Given the description of an element on the screen output the (x, y) to click on. 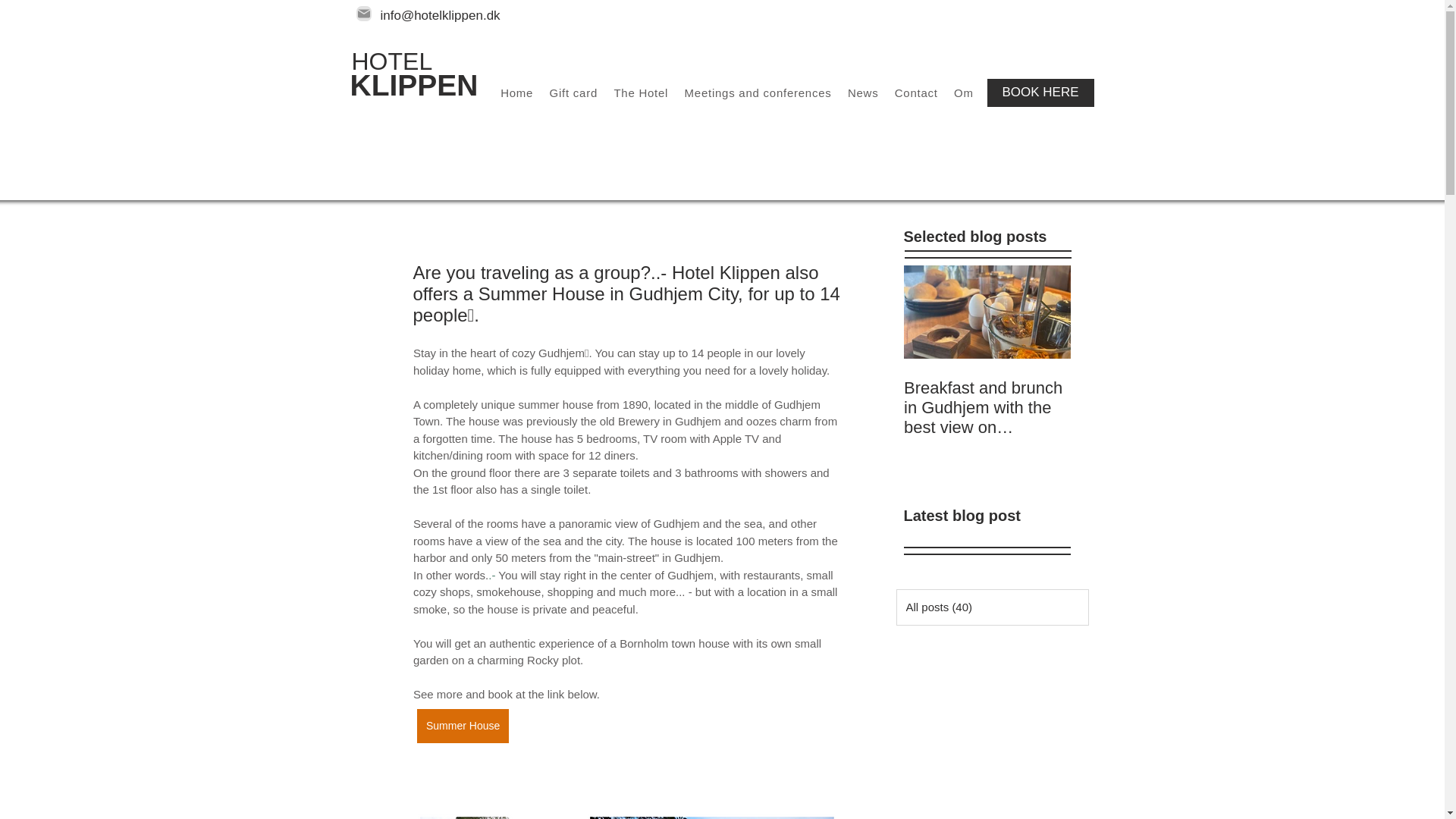
BOOK HERE (1040, 92)
Contact (915, 92)
Summer House (462, 725)
HOTEL (392, 61)
The Hotel (641, 92)
Gift card (573, 92)
Home (516, 92)
Hotel Klippen has a sister hotel: Therns Hotel in Gudhjem (1153, 407)
Meetings and conferences (757, 92)
News (862, 92)
Om (962, 92)
